Given the description of an element on the screen output the (x, y) to click on. 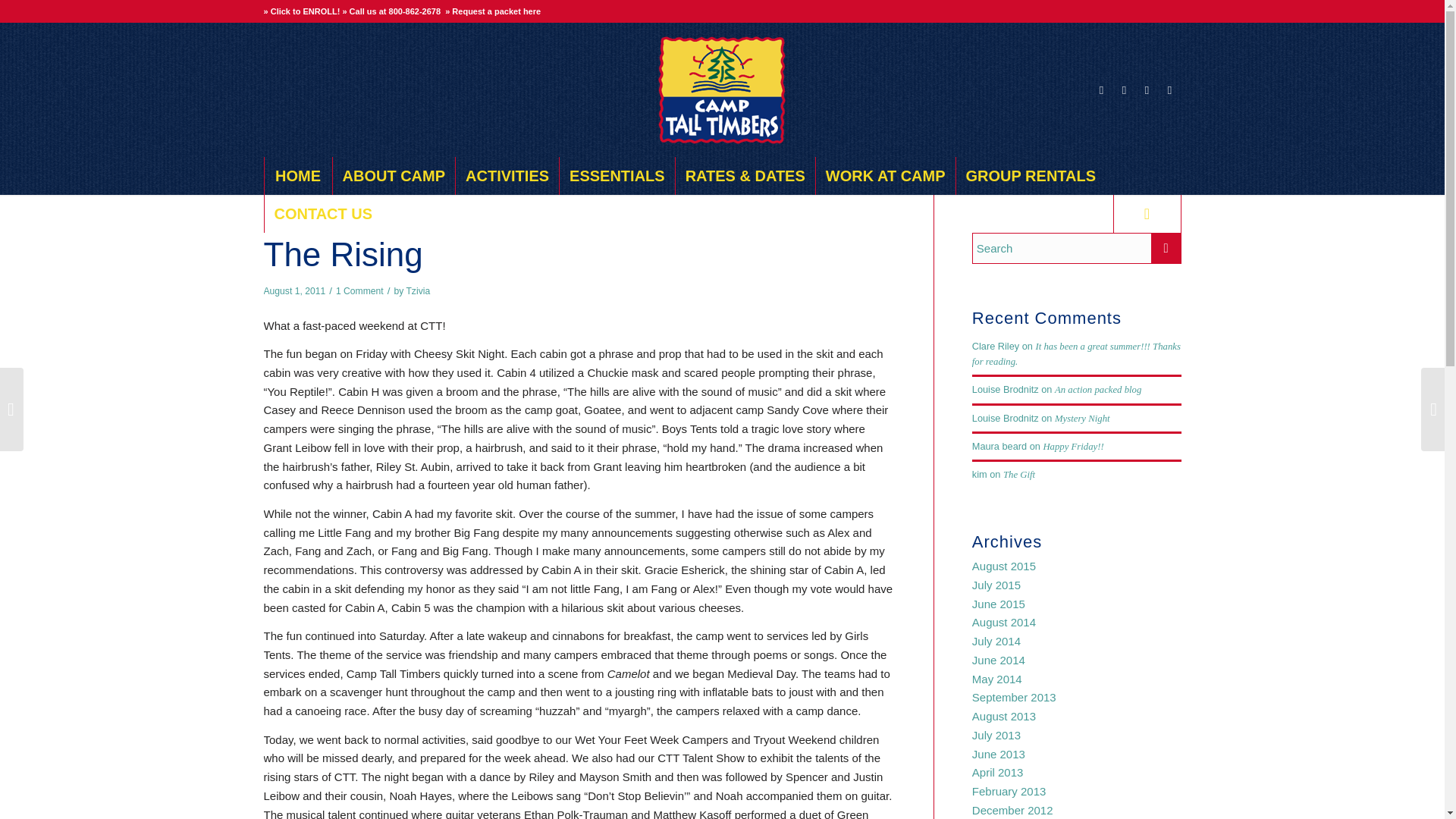
CONTACT US (322, 213)
ABOUT CAMP (393, 175)
Twitter (1124, 89)
1 Comment (360, 290)
Linkedin (1169, 89)
WORK AT CAMP (885, 175)
Call us at 800-862-2678 (395, 10)
Youtube (1146, 89)
ESSENTIALS (617, 175)
Posts by Tzivia (417, 290)
